Given the description of an element on the screen output the (x, y) to click on. 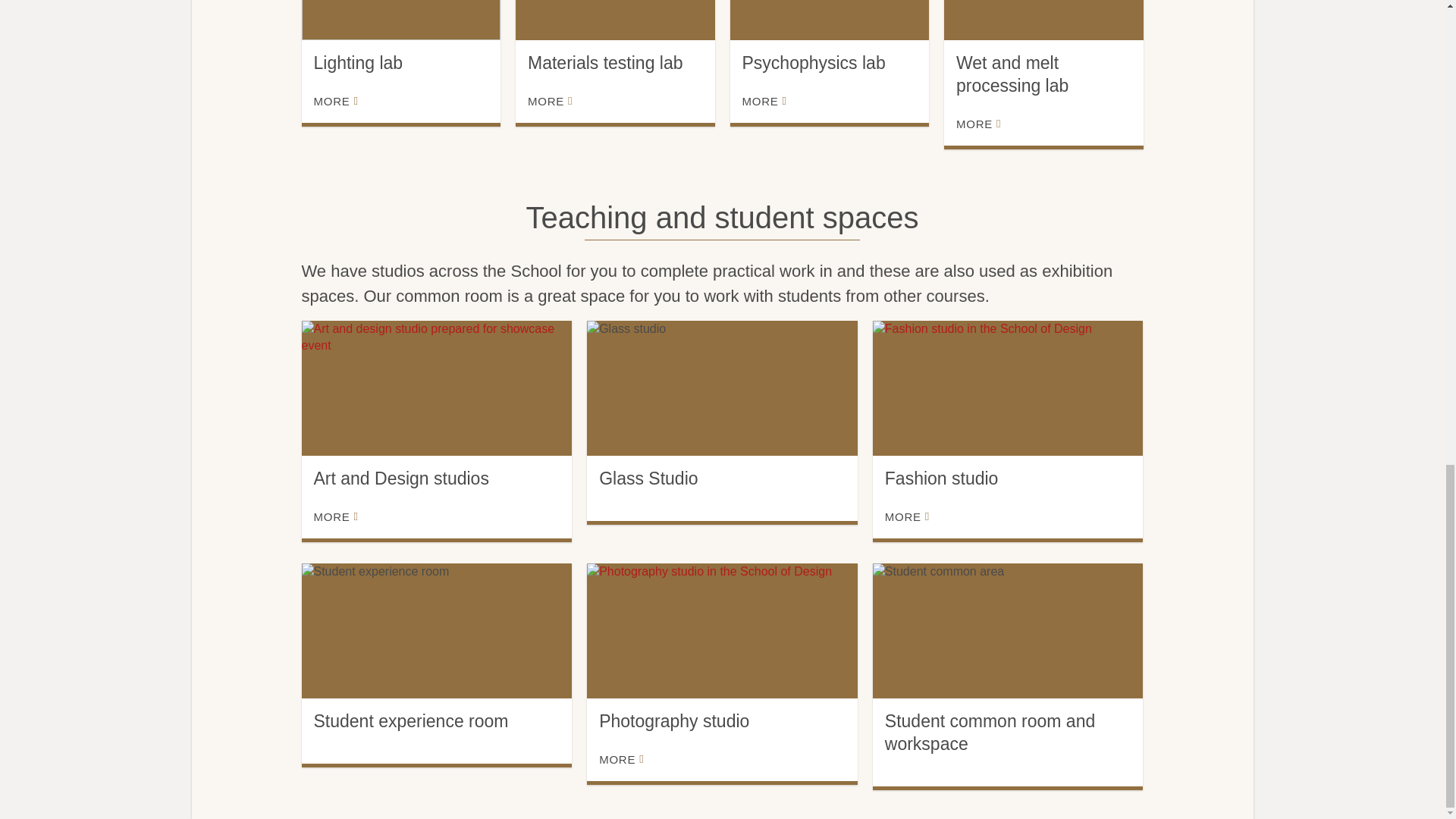
More on Lighting lab (336, 101)
Wet and melt processing lab (1042, 20)
Materials testing lab (614, 20)
Art and Design studios  (436, 388)
More on Psychophysics lab (763, 101)
Psychophysics lab (828, 20)
More on Wet and melt processing lab (978, 124)
Lighting lab (400, 20)
More on Materials testing lab (549, 101)
More on Art and Design studios  (336, 516)
